Given the description of an element on the screen output the (x, y) to click on. 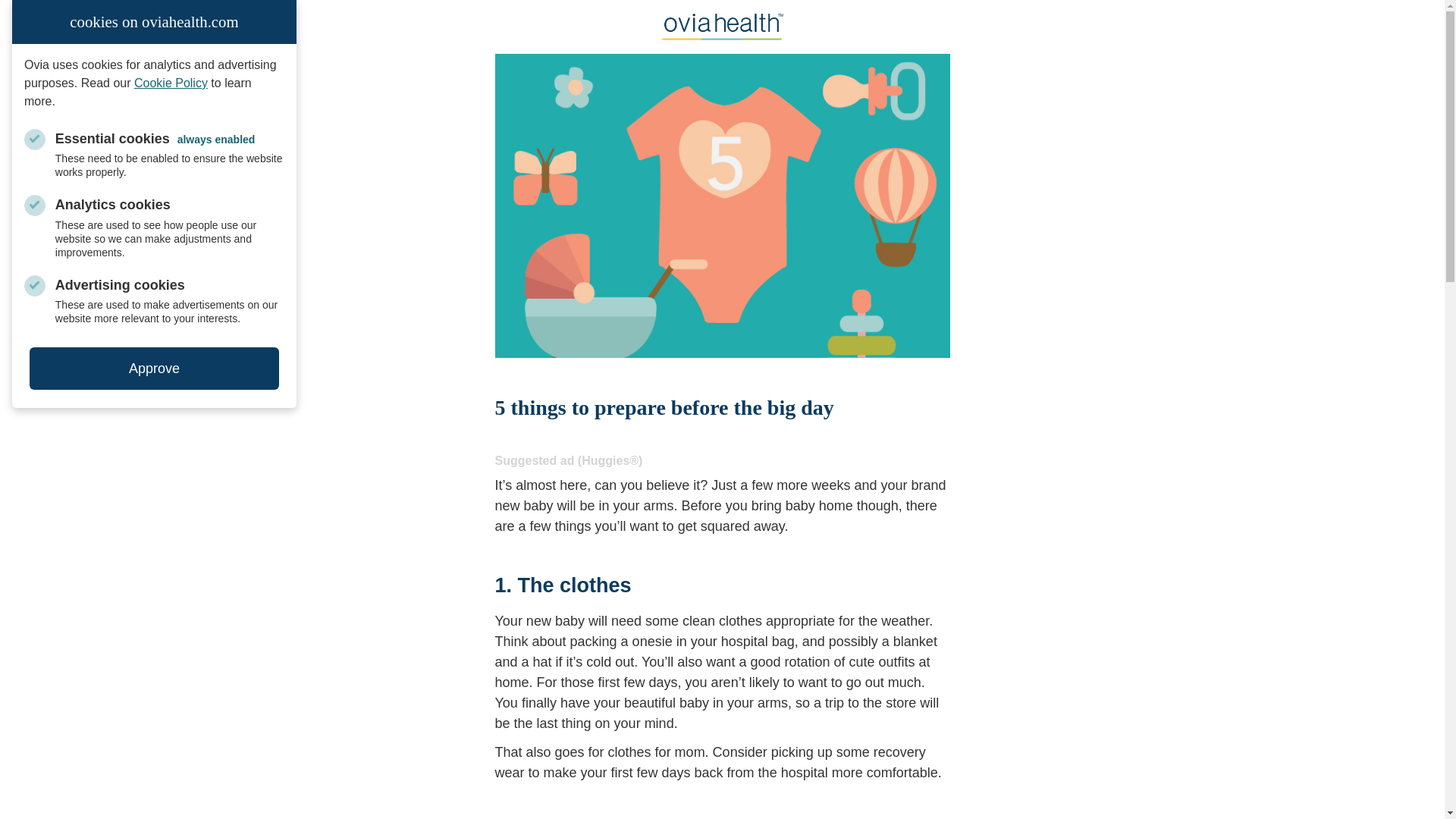
Cookie Policy (170, 82)
Approve (154, 368)
